Given the description of an element on the screen output the (x, y) to click on. 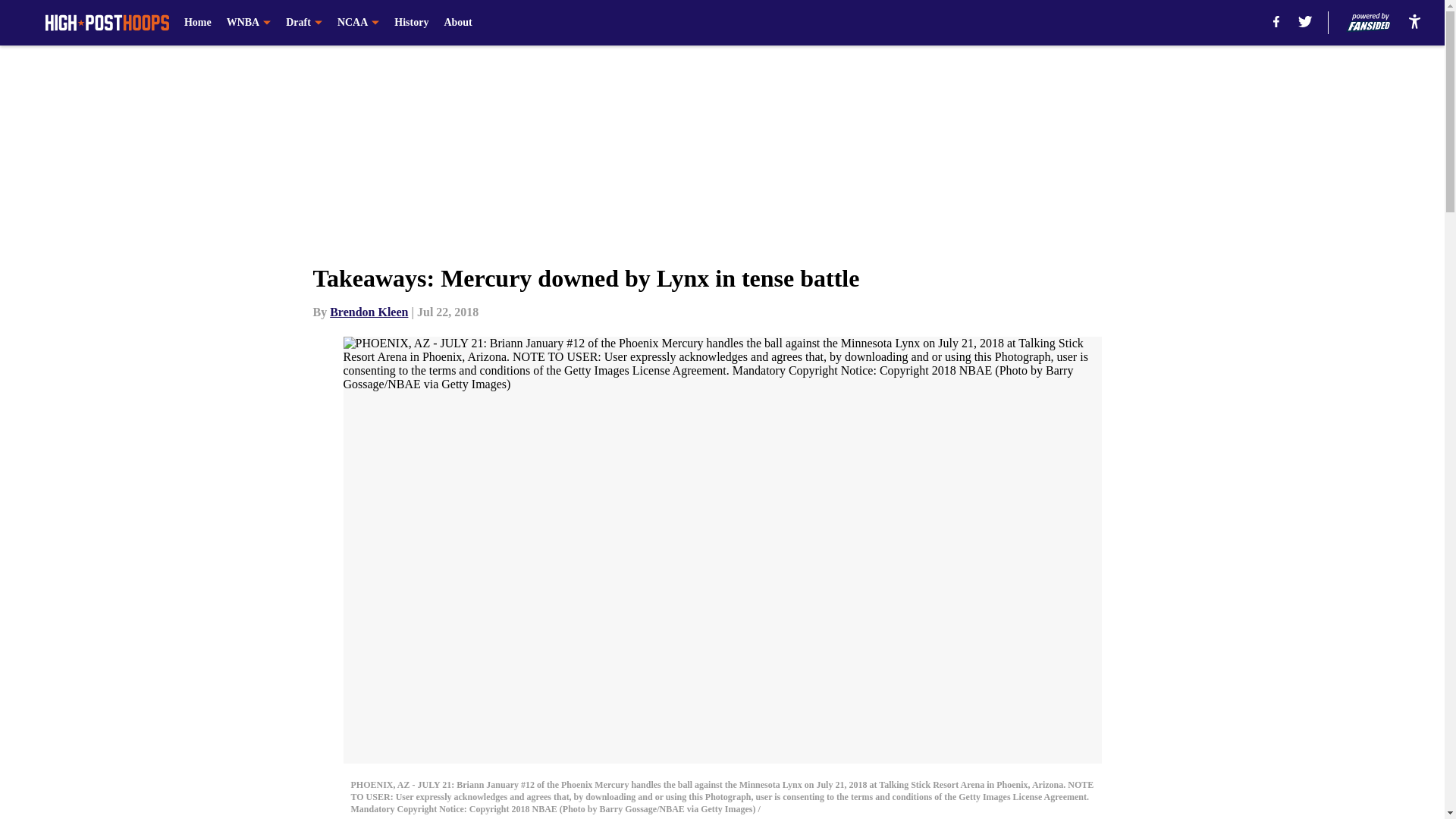
About (457, 22)
History (411, 22)
Brendon Kleen (368, 311)
Home (197, 22)
